Given the description of an element on the screen output the (x, y) to click on. 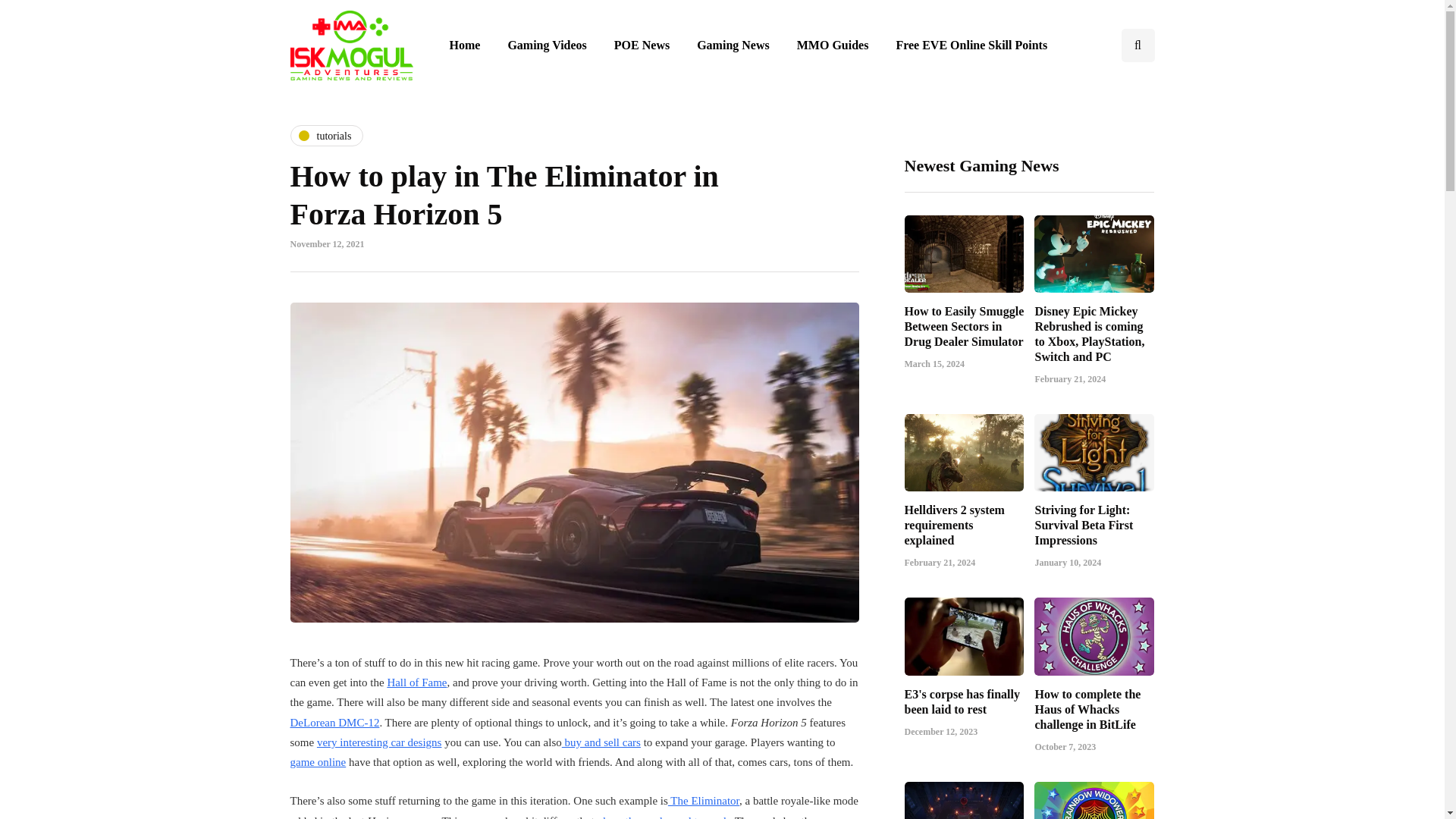
Gaming Videos (546, 45)
MMO Guides (832, 45)
Home (464, 45)
Gaming News (732, 45)
Free EVE Online Skill Points (971, 45)
POE News (640, 45)
